Given the description of an element on the screen output the (x, y) to click on. 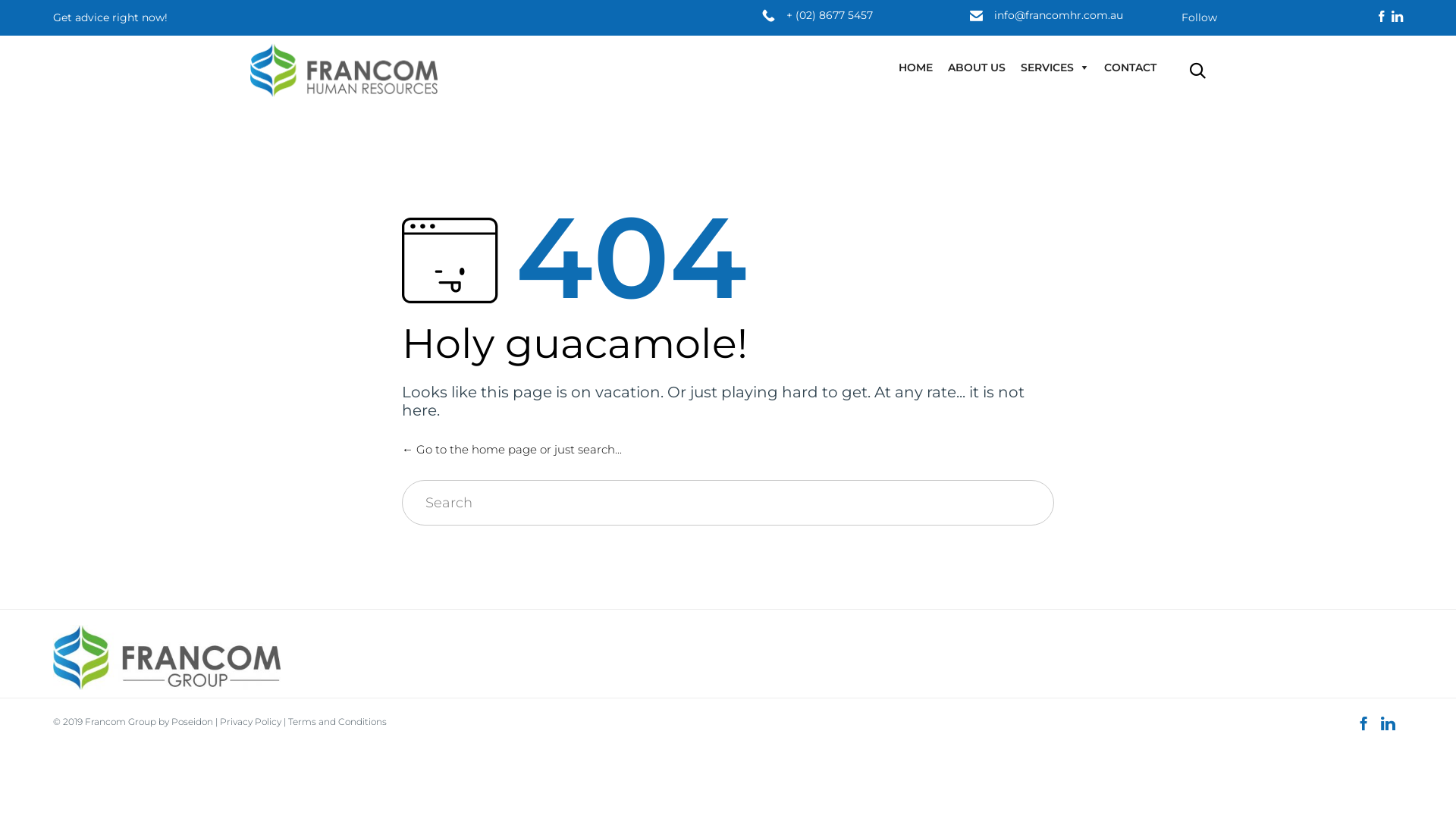
ABOUT US Element type: text (976, 66)
Search Element type: text (1002, 502)
Human Resources Element type: hover (344, 69)
Privacy Policy Element type: text (250, 721)
Skip to content Element type: text (1173, 51)
CONTACT Element type: text (1130, 66)
SERVICES Element type: text (1054, 66)
francom-group-logo Element type: hover (166, 657)
HOME Element type: text (915, 66)
Poseidon Element type: text (192, 721)
Francom Element type: text (106, 721)
info@francomhr.com.au Element type: text (1058, 15)
Terms and Conditions Element type: text (337, 721)
